Given the description of an element on the screen output the (x, y) to click on. 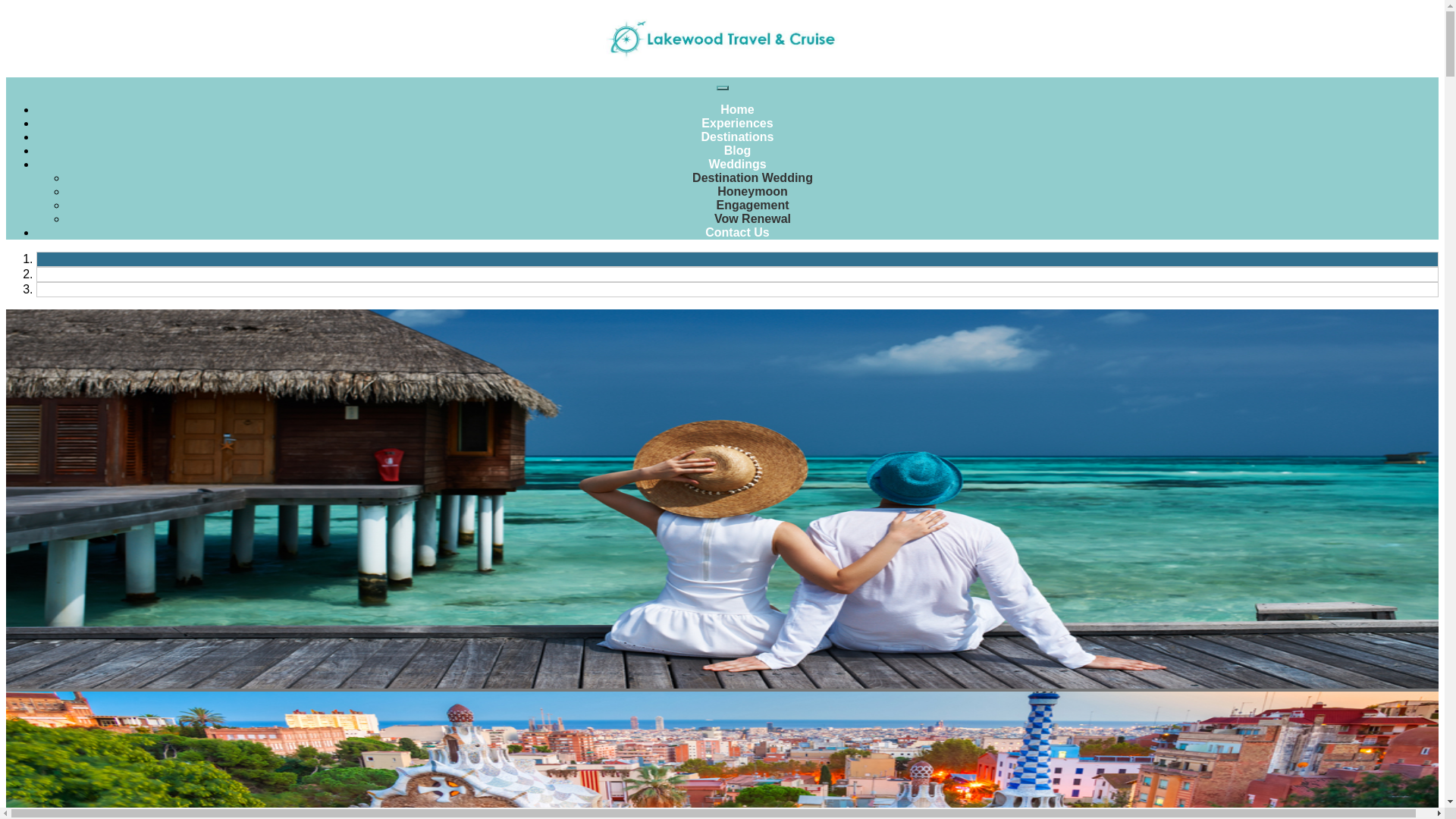
Honeymoon (752, 191)
Destination Wedding (752, 177)
Experiences (737, 123)
Destinations (736, 136)
Weddings (736, 164)
Home (737, 109)
Engagement (752, 205)
Contact Us (736, 232)
Toggle navigation (722, 87)
Blog (737, 150)
Vow Renewal (752, 218)
